Given the description of an element on the screen output the (x, y) to click on. 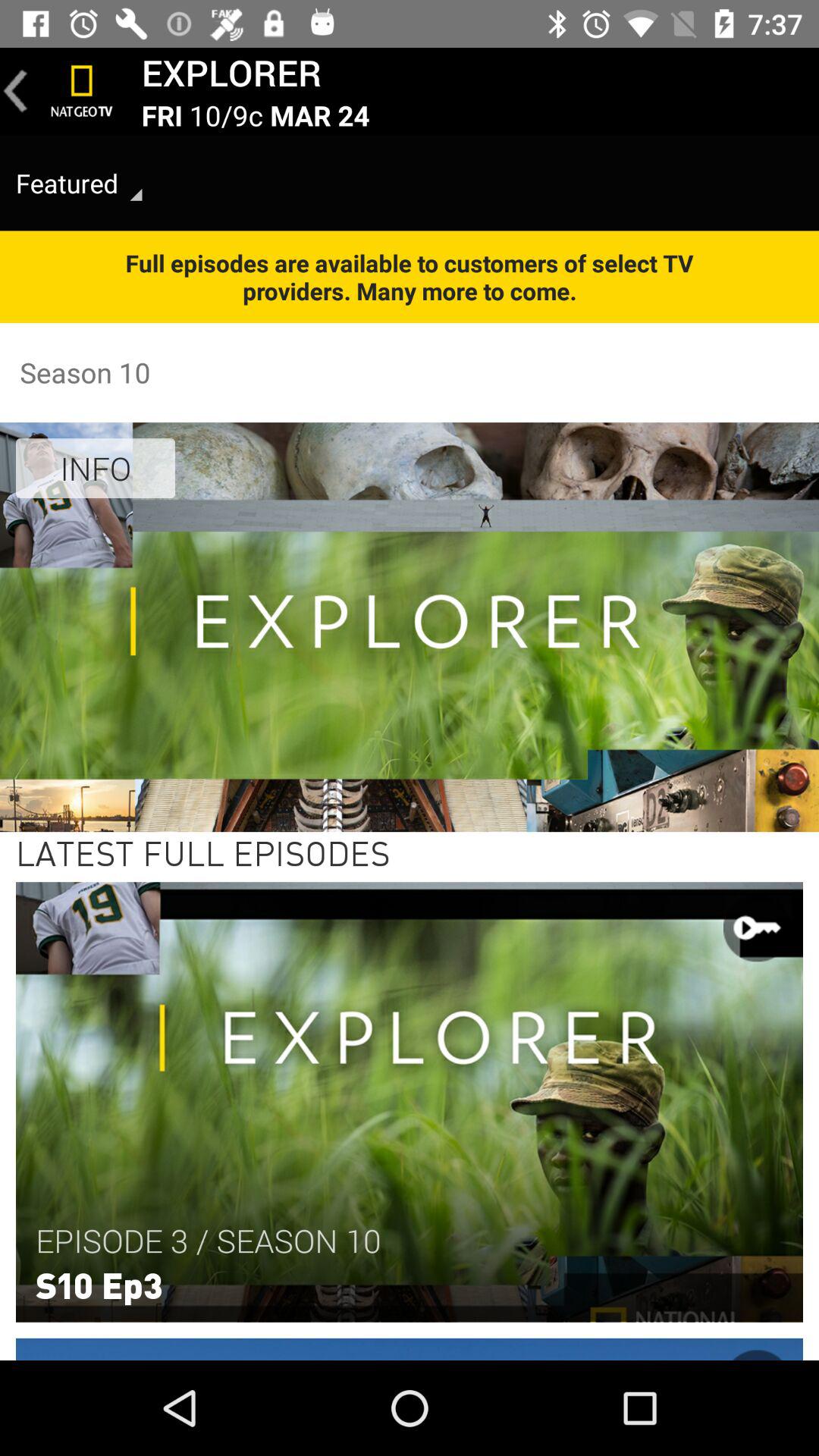
open the info icon (95, 468)
